Given the description of an element on the screen output the (x, y) to click on. 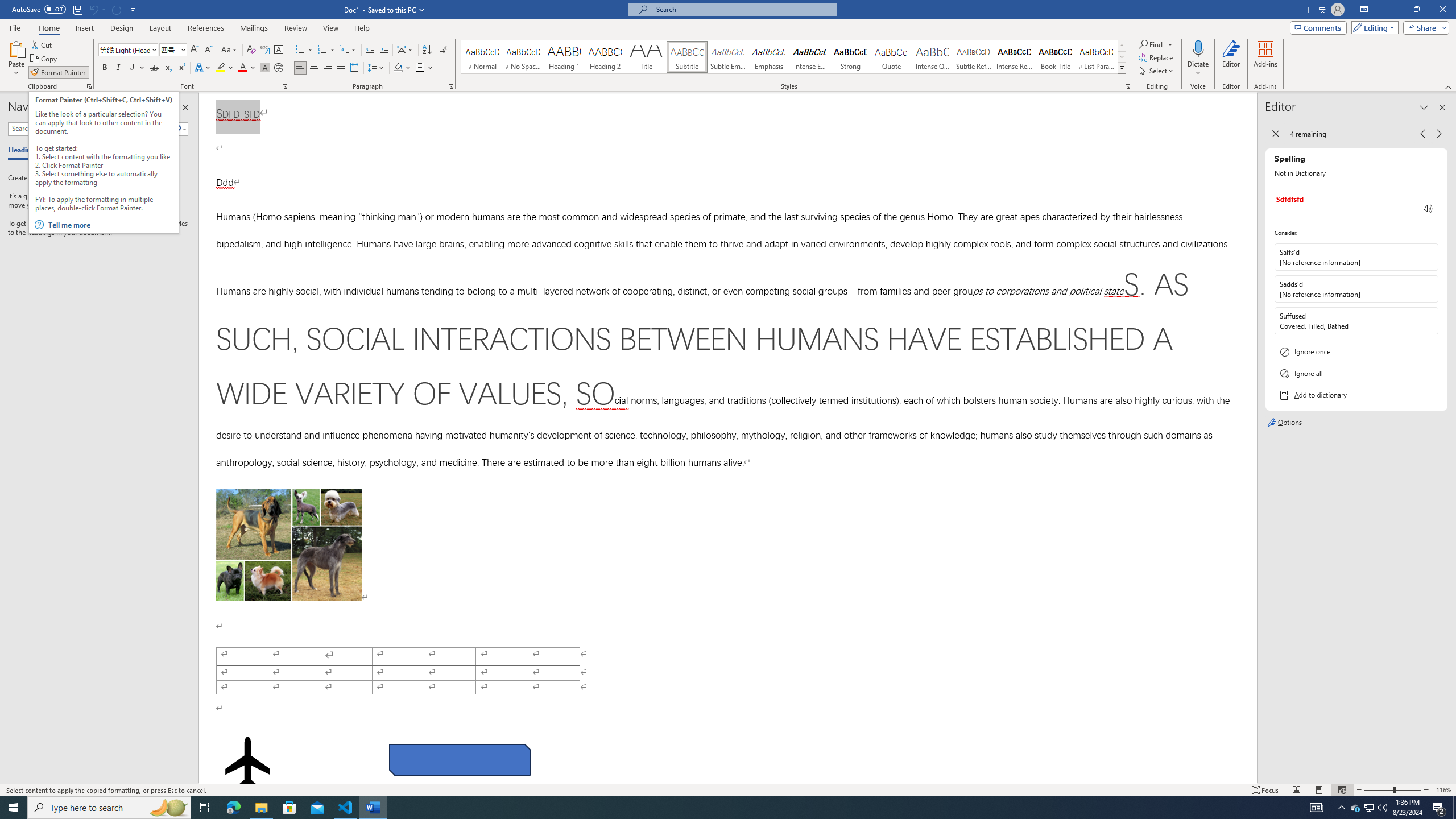
Row up (1121, 45)
Ignore all (1356, 373)
Quote (891, 56)
Class: NetUIScrollBar (1251, 437)
Row Down (1121, 56)
Focus  (1265, 790)
Line and Paragraph Spacing (376, 67)
Title (646, 56)
Replace... (1156, 56)
Book Title (1055, 56)
Ignore once (1356, 351)
Find (1151, 44)
Font (124, 49)
Text Highlight Color (224, 67)
Design (122, 28)
